Given the description of an element on the screen output the (x, y) to click on. 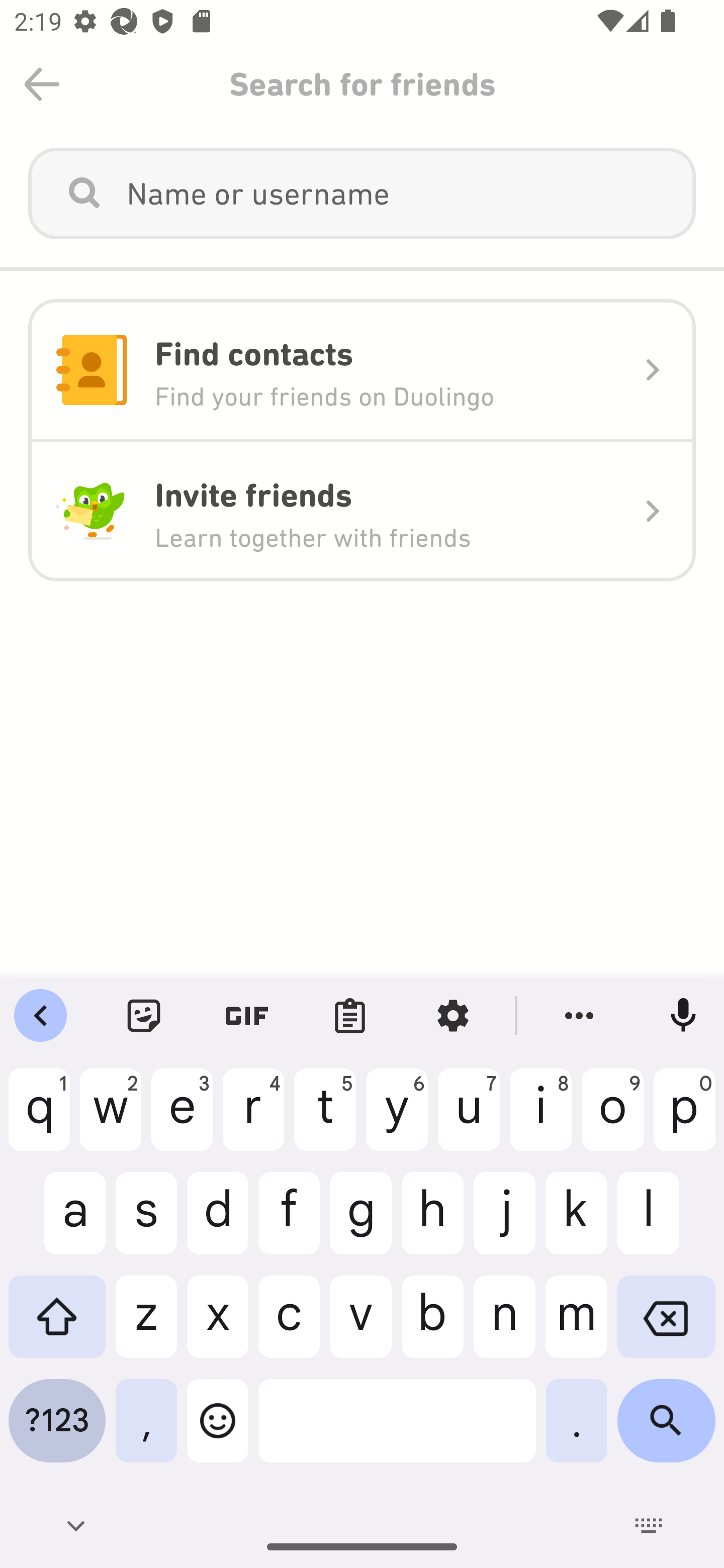
Back (41, 84)
Name or username (361, 193)
Name or username (397, 193)
Find contacts Find your friends on Duolingo (361, 369)
Invite friends Learn together with friends (361, 510)
